Given the description of an element on the screen output the (x, y) to click on. 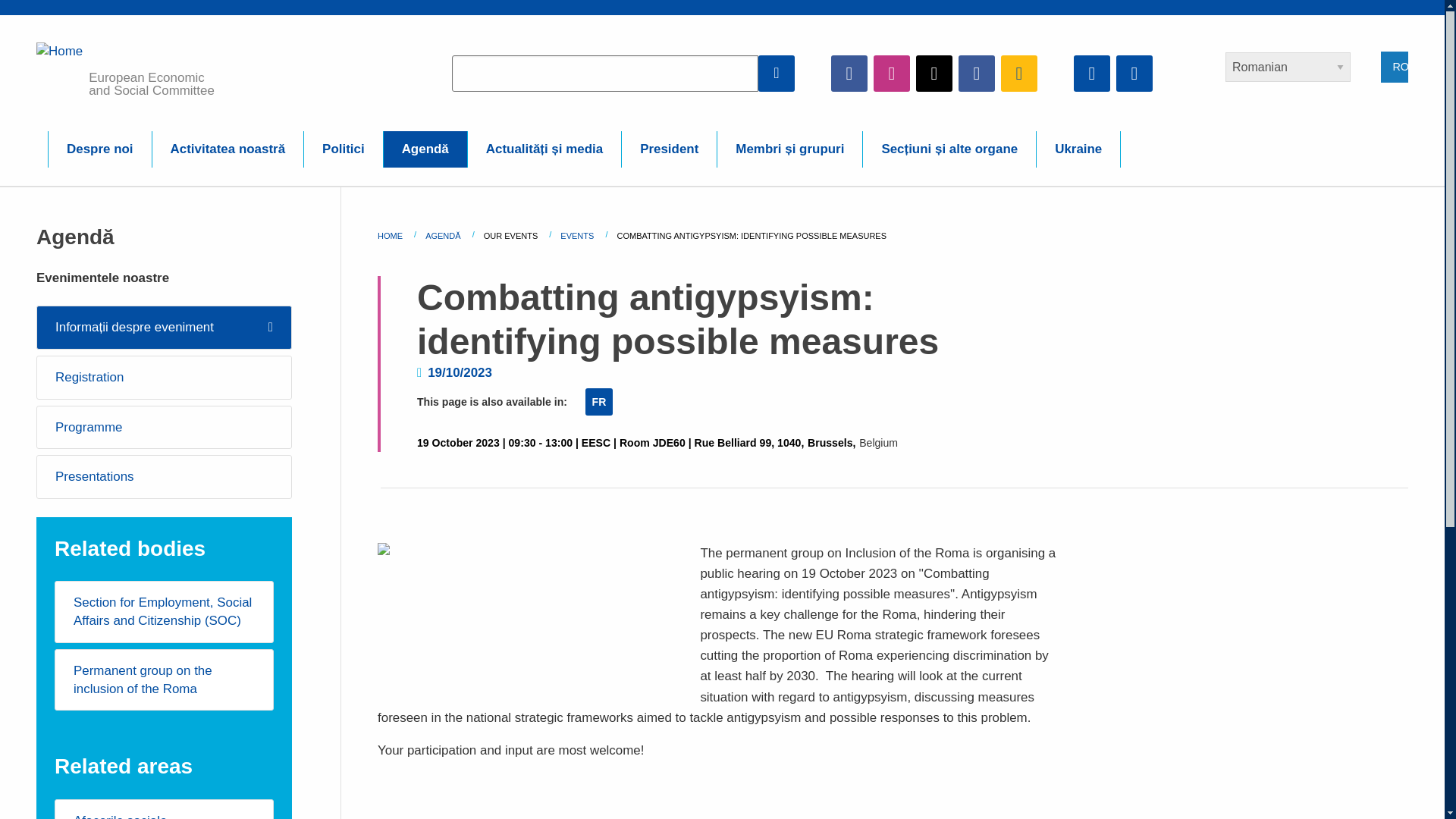
Apply (776, 72)
